Given the description of an element on the screen output the (x, y) to click on. 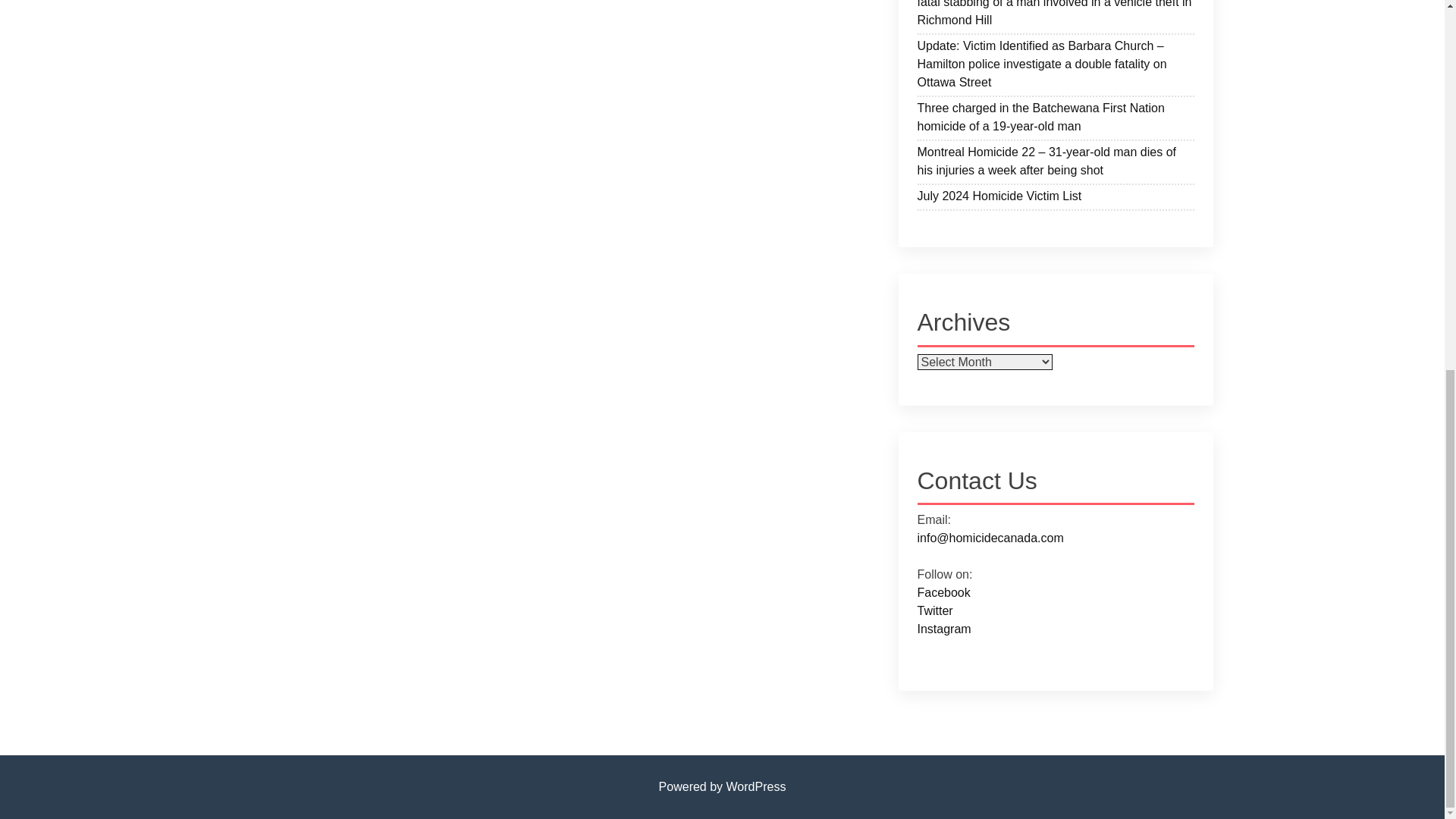
Twitter (935, 610)
Facebook (944, 592)
Powered by WordPress (722, 786)
July 2024 Homicide Victim List (1056, 198)
Instagram (944, 628)
